Given the description of an element on the screen output the (x, y) to click on. 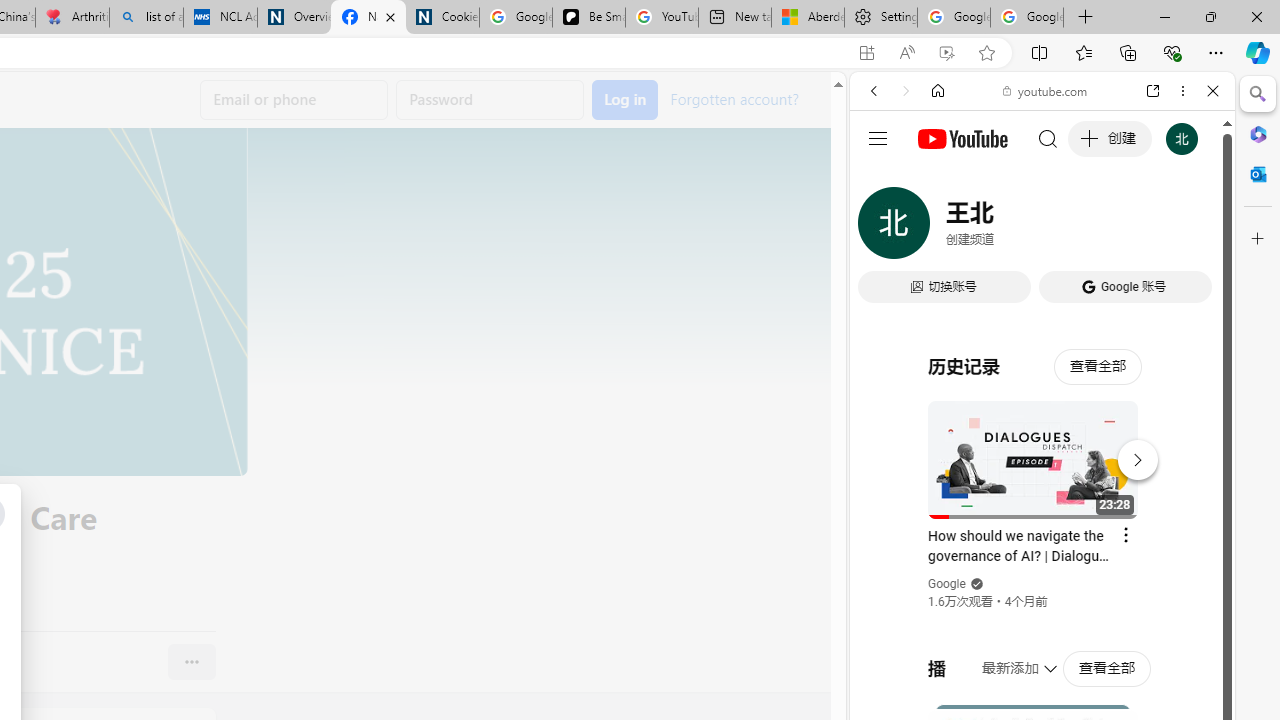
Google (947, 584)
Be Smart | creating Science videos | Patreon (588, 17)
Trailer #2 [HD] (1042, 592)
Music (1042, 543)
Trailer #2 [HD] (1042, 594)
App available. Install Facebook (867, 53)
